Given the description of an element on the screen output the (x, y) to click on. 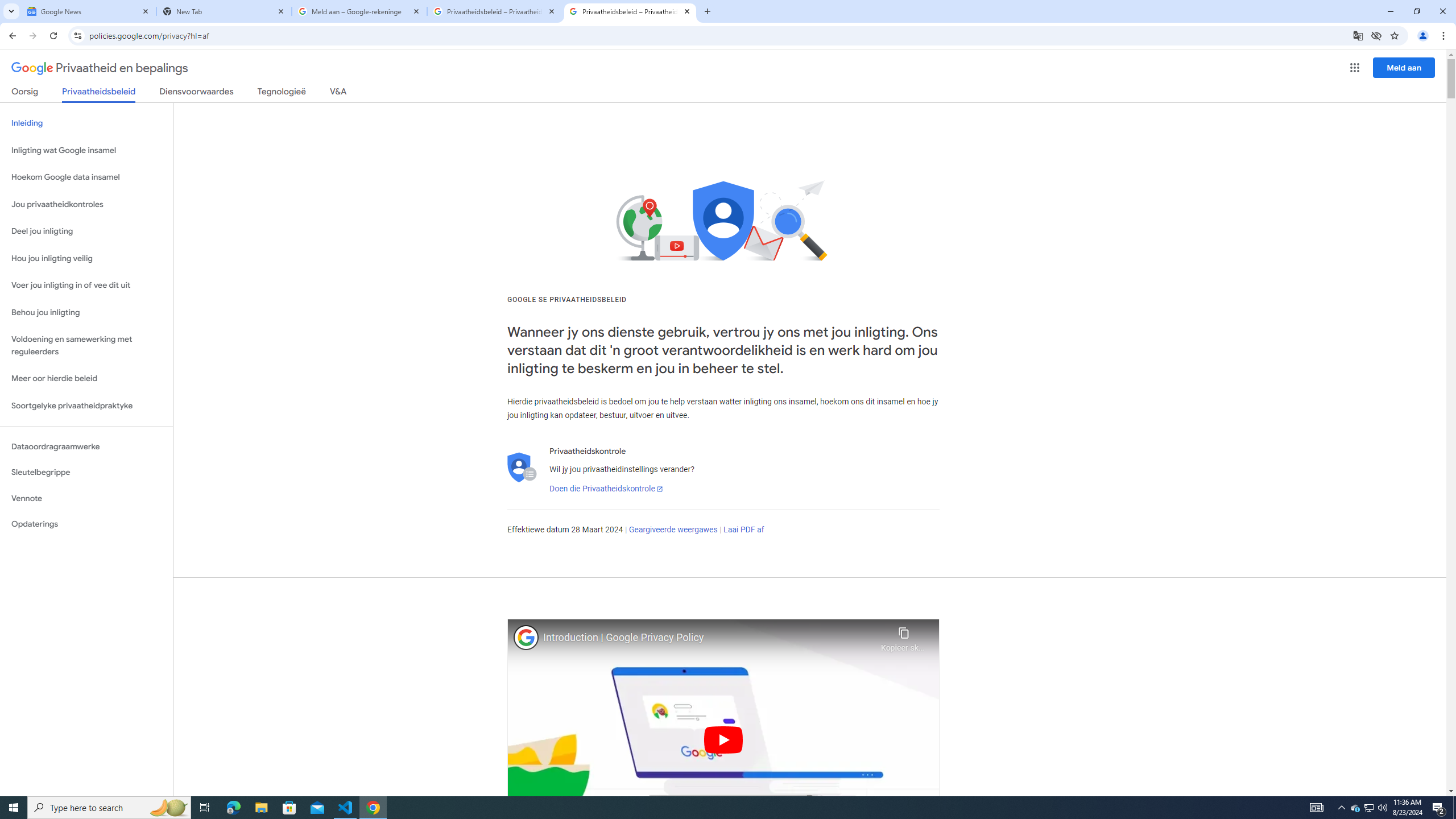
Style (506, 91)
Voice Selection (776, 237)
Update Table (958, 91)
Update Index (816, 91)
Settings (807, 149)
Manage Sources... (490, 72)
Style (512, 91)
Start a conversation (1291, 240)
